Given the description of an element on the screen output the (x, y) to click on. 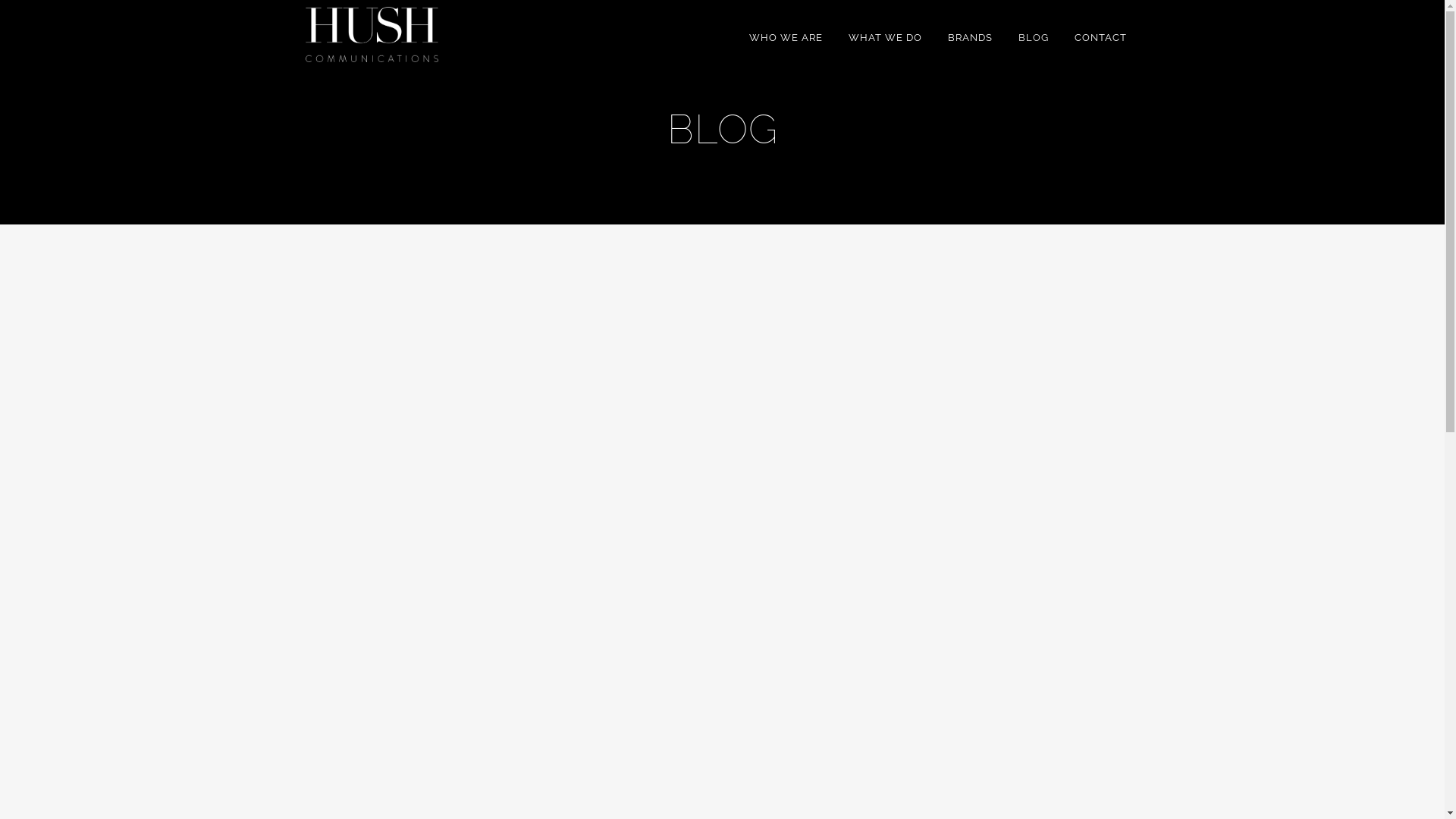
WHAT WE DO Element type: text (885, 37)
BRANDS Element type: text (969, 37)
CONTACT Element type: text (1100, 37)
BLOG Element type: text (1033, 37)
WHO WE ARE Element type: text (784, 37)
